Given the description of an element on the screen output the (x, y) to click on. 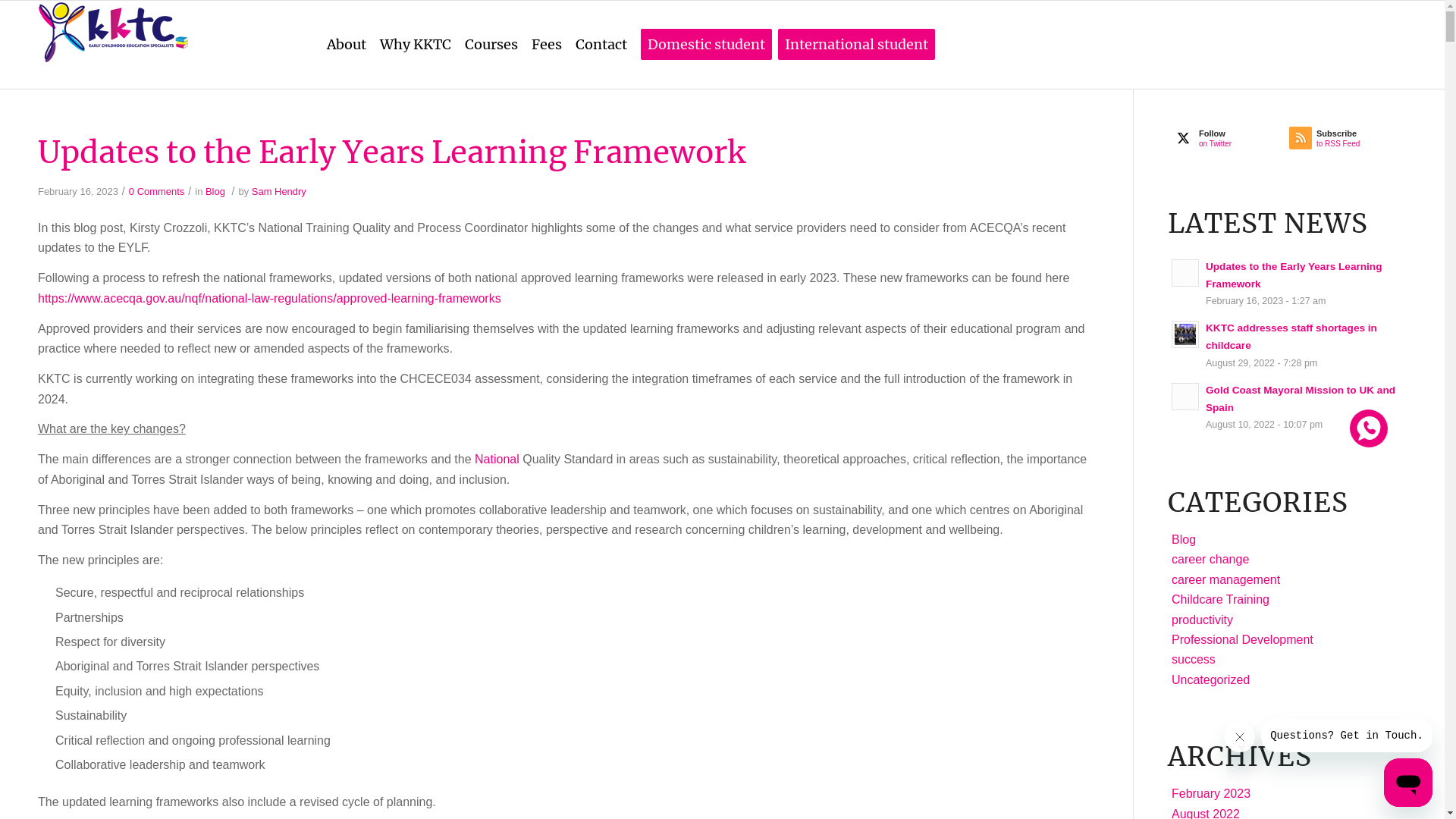
Blog Element type: text (1183, 539)
Read: KKTC addresses staff shortages in childcare Element type: hover (1184, 334)
Why KKTC Element type: text (415, 44)
Fees Element type: text (546, 44)
Courses Element type: text (491, 44)
Read: Updates to the Early Years Learning Framework Element type: hover (1184, 272)
career change Element type: text (1209, 558)
Read: Gold Coast Mayoral Mission to UK and Spain Element type: hover (1184, 396)
career management Element type: text (1225, 579)
Professional Development Element type: text (1242, 639)
Button to launch messaging window Element type: hover (1407, 782)
Updates to the Early Years Learning Framework Element type: text (1293, 274)
success Element type: text (1193, 658)
About Element type: text (346, 44)
Message from company Element type: hover (1346, 735)
Subscribe
to RSS Feed Element type: text (1347, 141)
National Element type: text (496, 458)
International student Element type: text (856, 44)
Gold Coast Mayoral Mission to UK and Spain Element type: text (1300, 398)
Blog Element type: text (215, 191)
Updates to the Early Years Learning Framework Element type: text (391, 152)
Contact Element type: text (600, 44)
Domestic student Element type: text (705, 44)
Follow
on Twitter Element type: text (1230, 141)
Close message Element type: hover (1239, 736)
KKTC addresses staff shortages in childcare Element type: text (1291, 336)
Sam Hendry Element type: text (278, 191)
Uncategorized Element type: text (1210, 679)
0 Comments Element type: text (156, 191)
February 2023 Element type: text (1210, 793)
productivity Element type: text (1202, 619)
Childcare Training Element type: text (1220, 599)
